Given the description of an element on the screen output the (x, y) to click on. 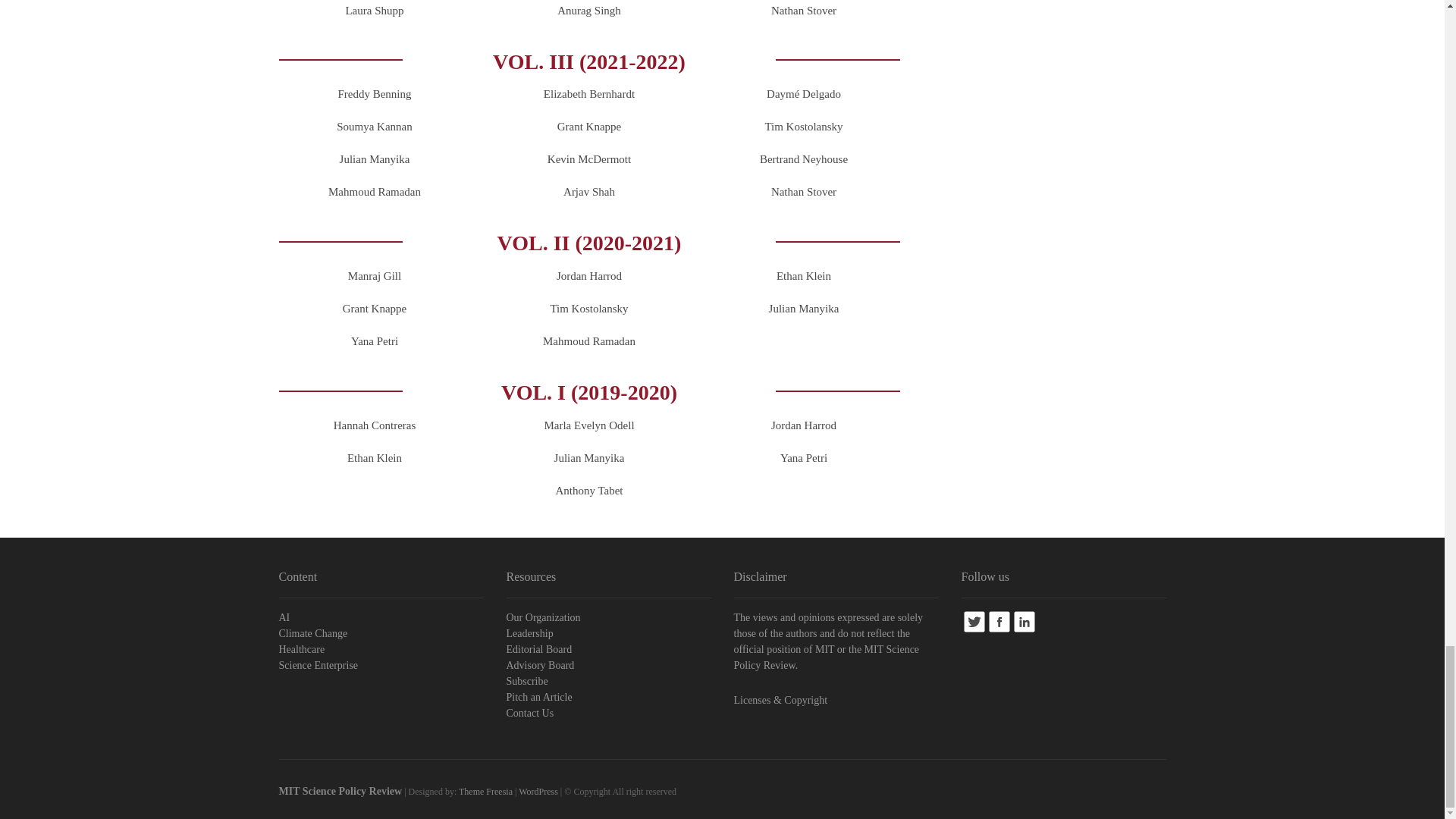
Visit Us On Facebook (997, 617)
Healthcare (381, 649)
Visit Us On Twitter (973, 617)
Climate Change (381, 633)
AI (381, 617)
Visit Us On Linkedin (1023, 617)
MIT Science Policy Review (341, 790)
Theme Freesia (485, 791)
WordPress (537, 791)
